Given the description of an element on the screen output the (x, y) to click on. 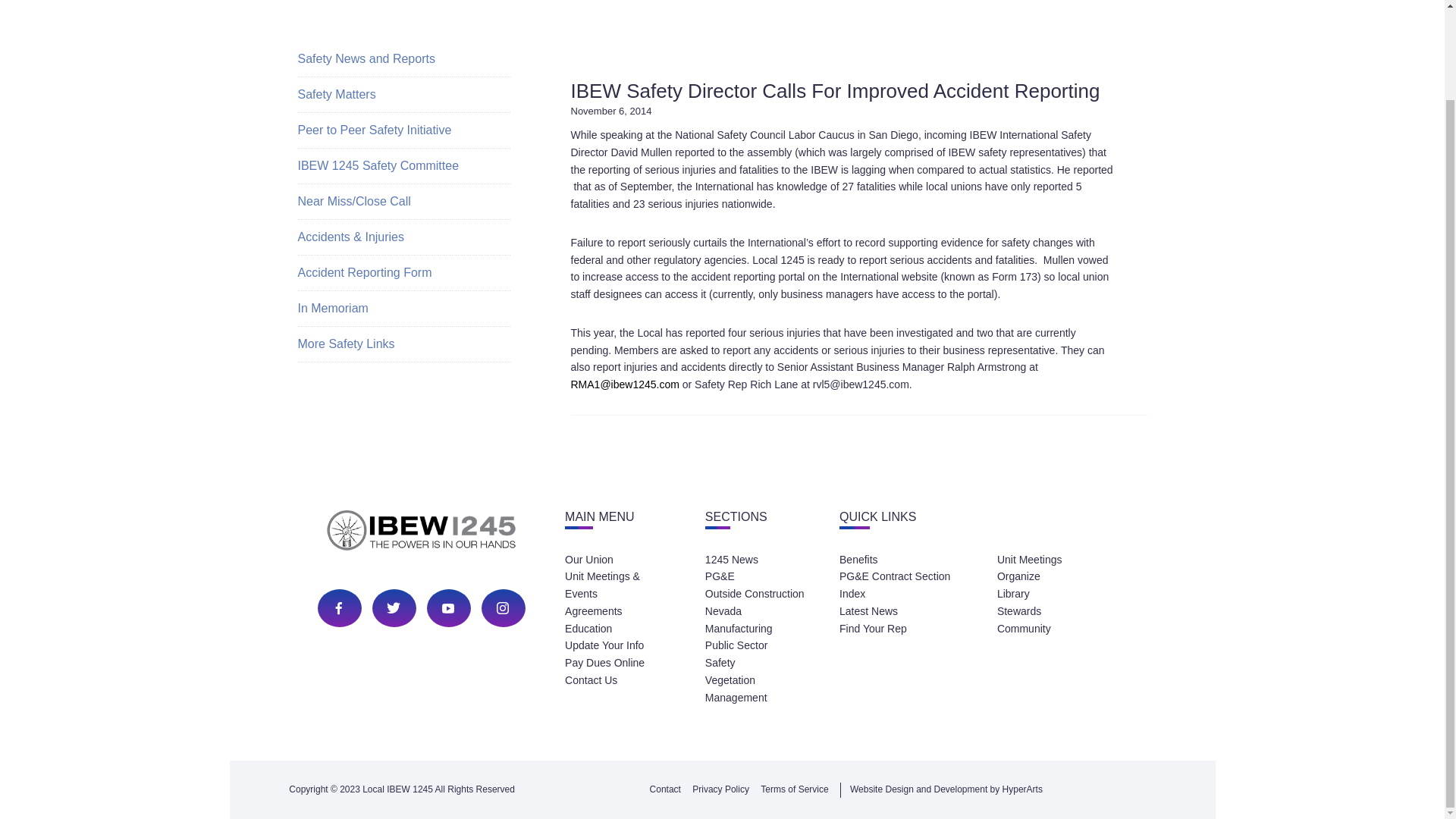
IBEW1245 Twitter (393, 607)
IBEW1245 Facebook (338, 607)
IBEW1245 Instagram (503, 607)
IBEW1245 YouTube (448, 607)
